Given the description of an element on the screen output the (x, y) to click on. 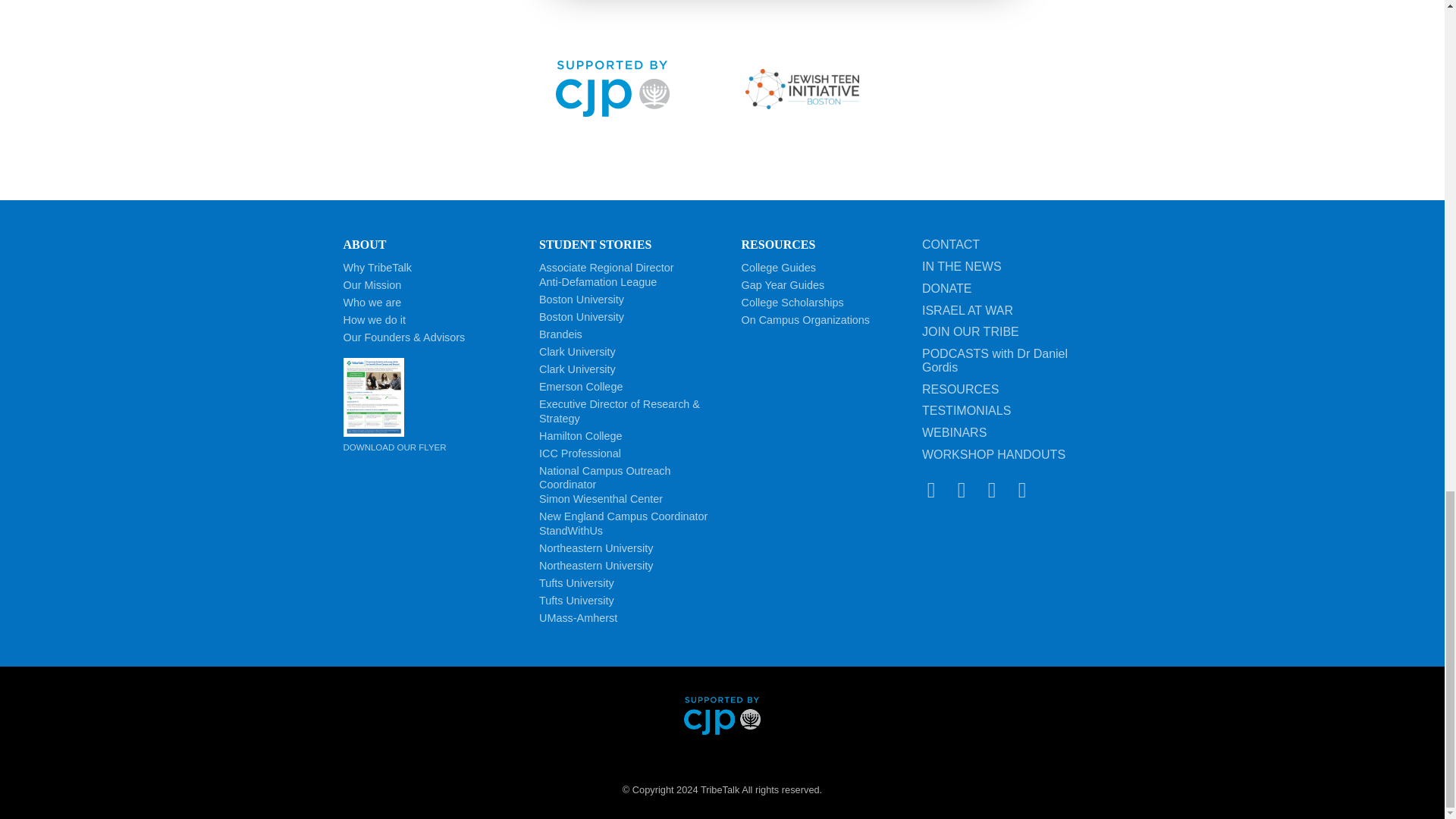
DOWNLOAD OUR FLYER (434, 404)
Who we are (371, 302)
Our Mission (371, 285)
ABOUT (363, 244)
STUDENT STORIES (594, 244)
Why TribeTalk (606, 274)
How we do it (376, 267)
Boston University (373, 319)
